Given the description of an element on the screen output the (x, y) to click on. 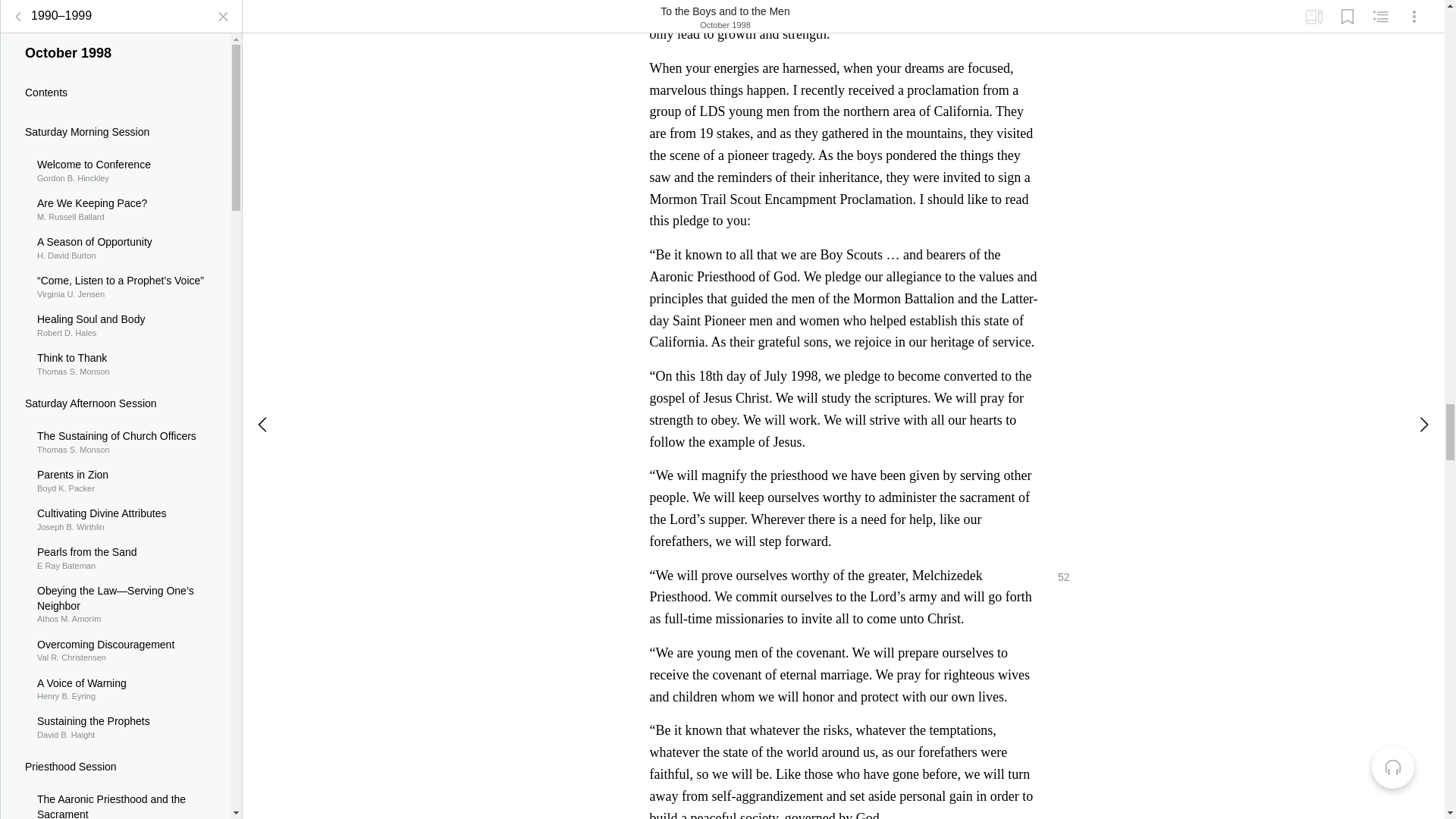
Sunday Afternoon Session (115, 616)
Sunday Morning Session (115, 213)
